Given the description of an element on the screen output the (x, y) to click on. 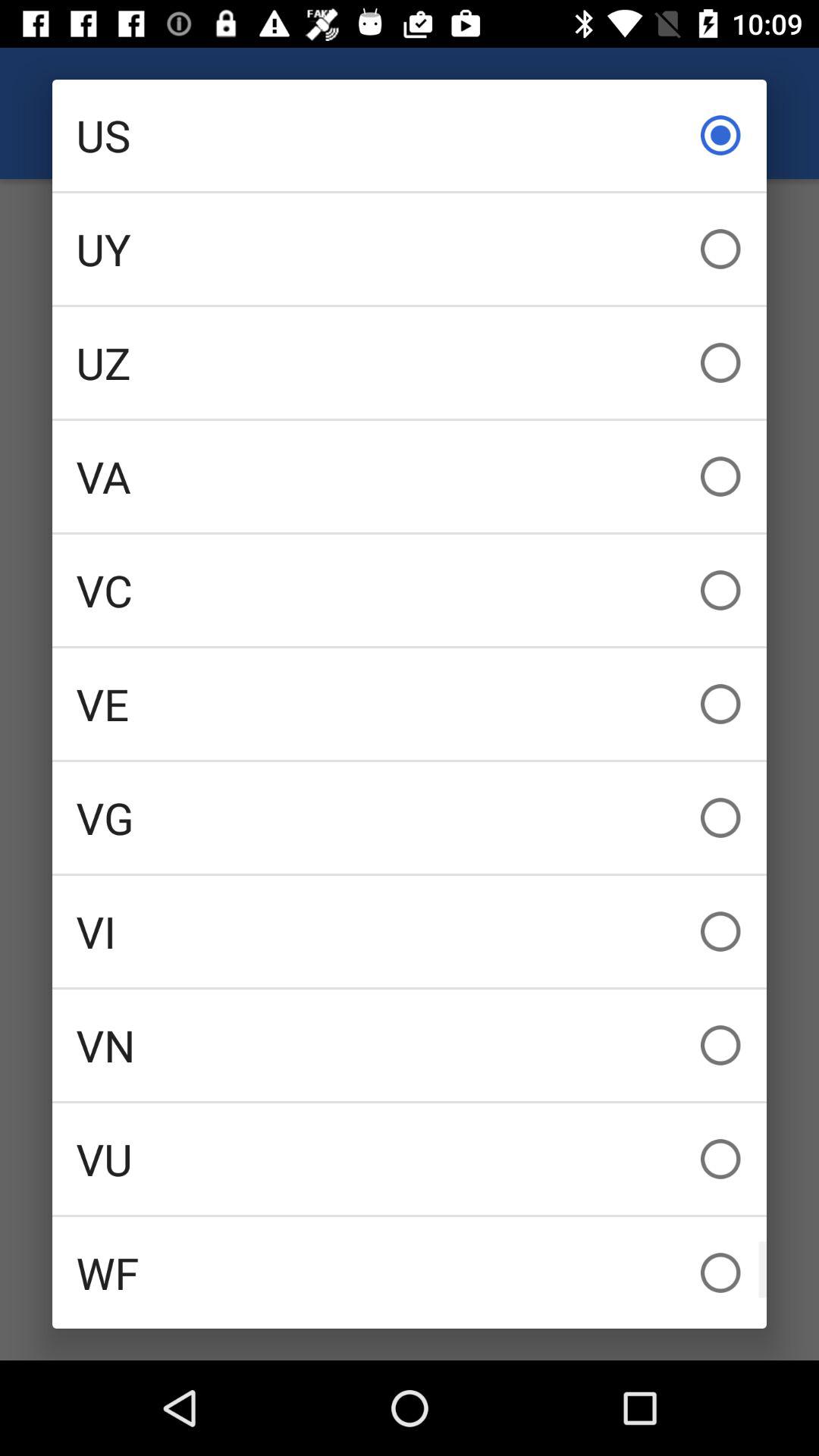
press vc item (409, 590)
